Given the description of an element on the screen output the (x, y) to click on. 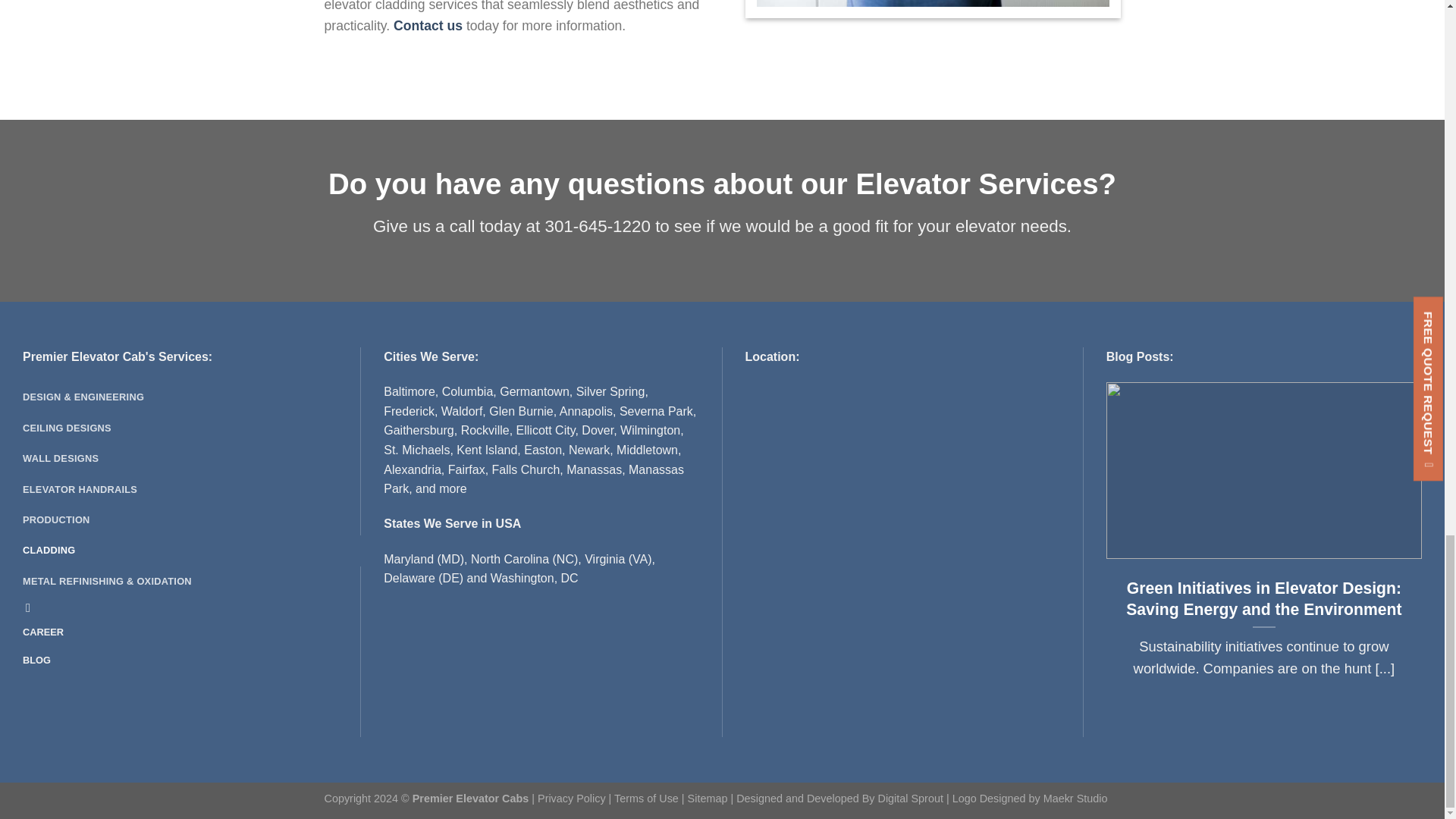
ELEVATOR HANDRAILS (192, 490)
States We Serve in USA (452, 522)
301-645-1220 (596, 226)
WALL DESIGNS (192, 458)
PRODUCTION (192, 520)
CEILING DESIGNS (192, 428)
CLADDING (192, 550)
BLOG (36, 659)
Contact us (428, 25)
CAREER (43, 632)
